Given the description of an element on the screen output the (x, y) to click on. 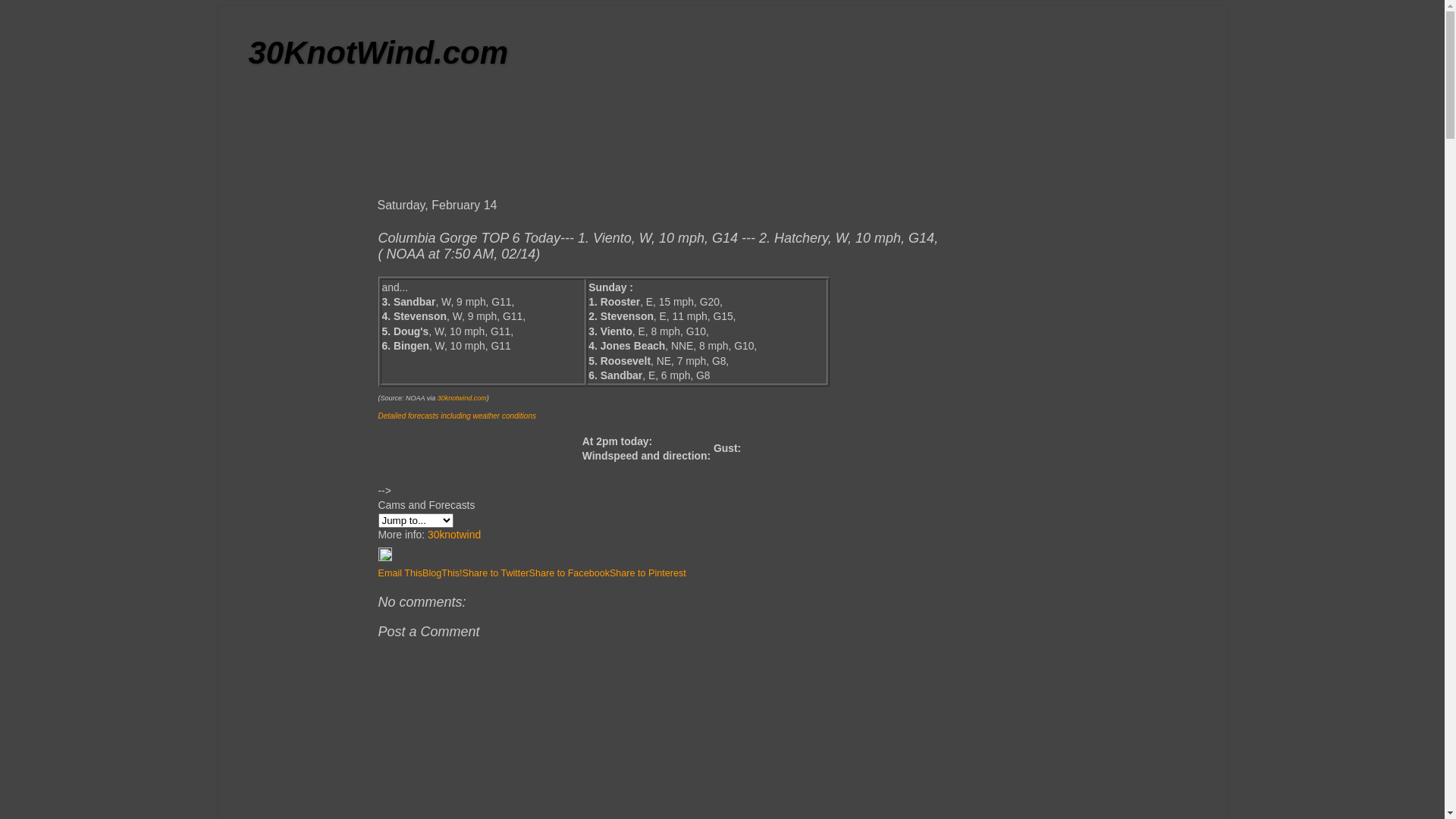
Share to Twitter Element type: text (495, 572)
Detailed forecasts including weather conditions Element type: text (456, 415)
30knotwind Element type: text (453, 534)
30KnotWind.com Element type: text (378, 52)
Share to Pinterest Element type: text (647, 572)
30knotwind.com Element type: text (461, 397)
Email This Element type: text (399, 572)
Edit Post Element type: hover (384, 557)
Share to Facebook Element type: text (569, 572)
BlogThis! Element type: text (442, 572)
